Given the description of an element on the screen output the (x, y) to click on. 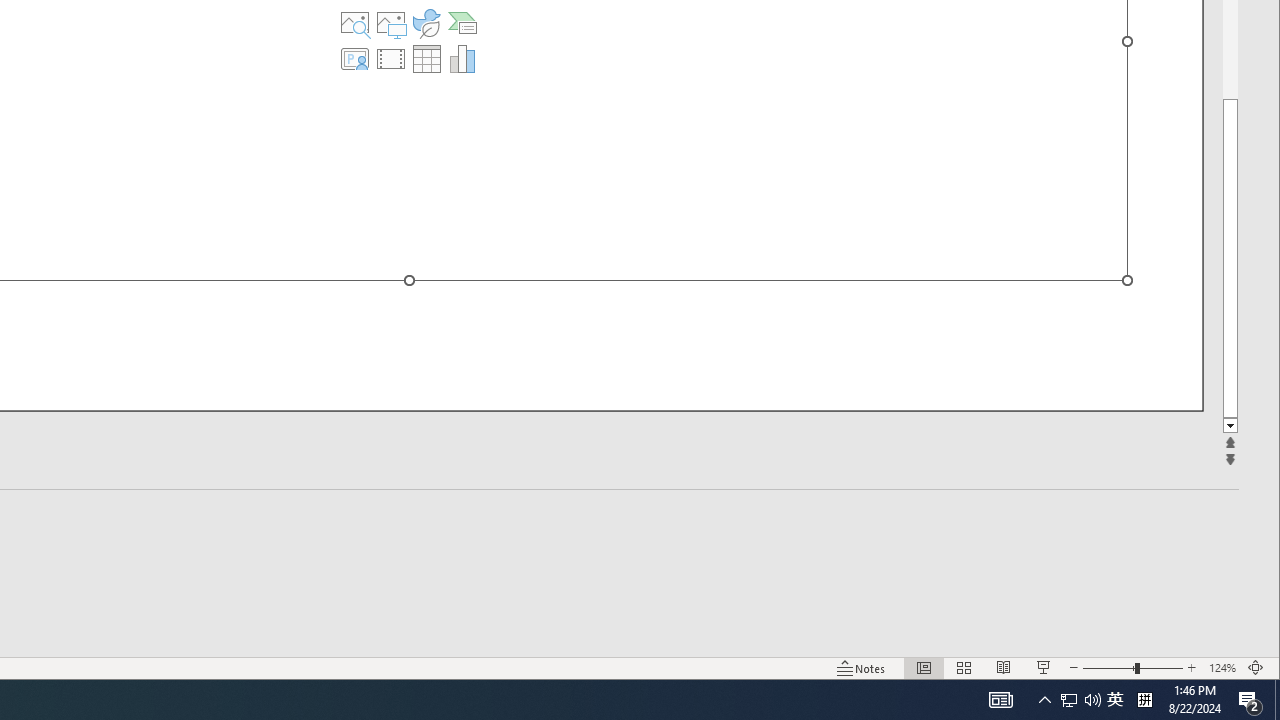
Stock Images (355, 22)
Insert a SmartArt Graphic (462, 22)
Insert an Icon (426, 22)
Zoom 124% (1222, 668)
